Given the description of an element on the screen output the (x, y) to click on. 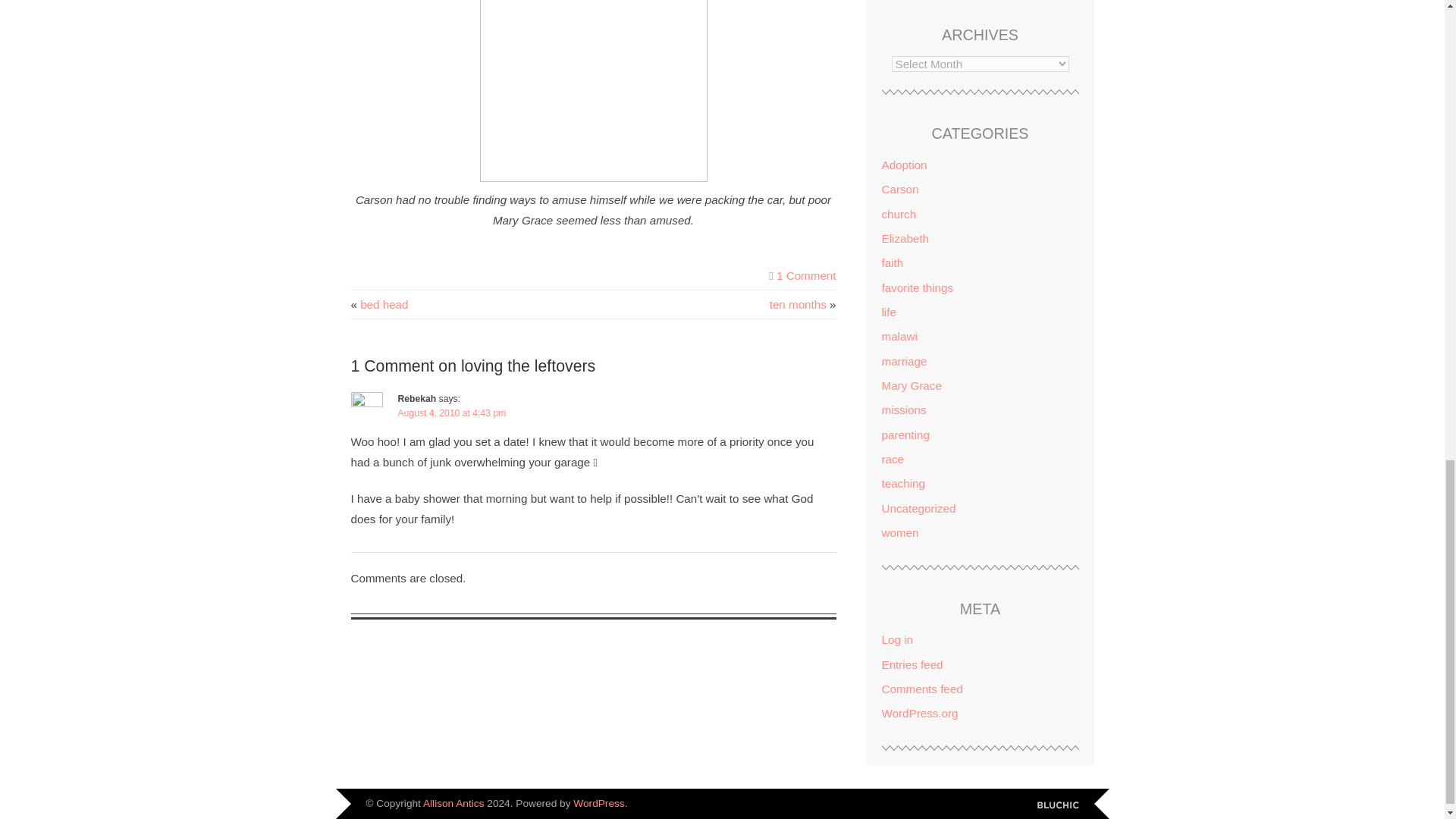
Comments feed (921, 688)
church (897, 214)
race (892, 459)
malawi (898, 336)
teaching (902, 482)
bed head (383, 304)
1 Comment (805, 275)
women (899, 532)
Mary Grace (910, 385)
favorite things (916, 287)
